Given the description of an element on the screen output the (x, y) to click on. 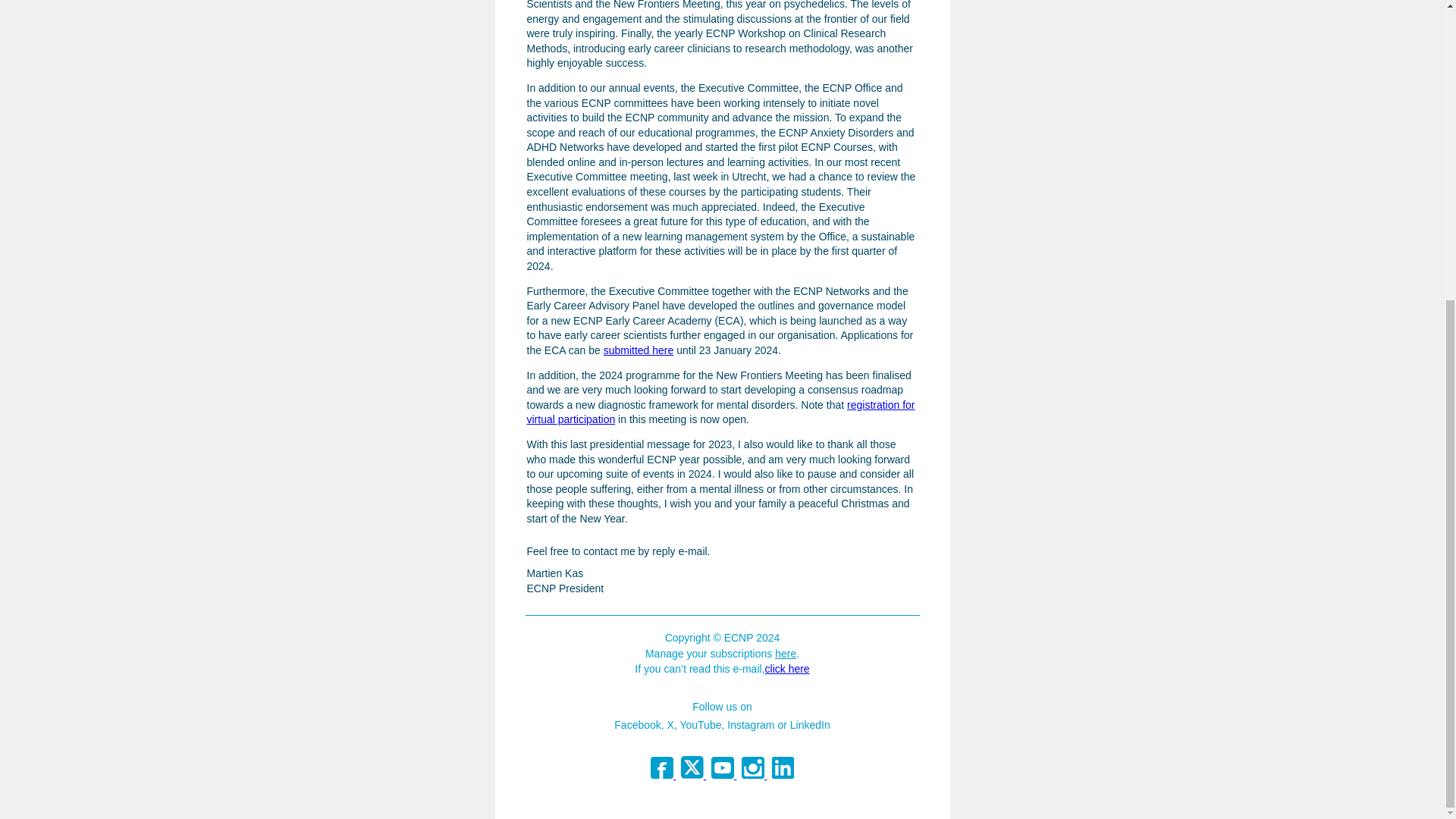
Facebook (637, 725)
YouTube (699, 725)
submitted here (639, 349)
registration for virtual participation (719, 411)
click here (787, 668)
LinkedIn (809, 725)
here (785, 653)
Instagram (750, 725)
